Given the description of an element on the screen output the (x, y) to click on. 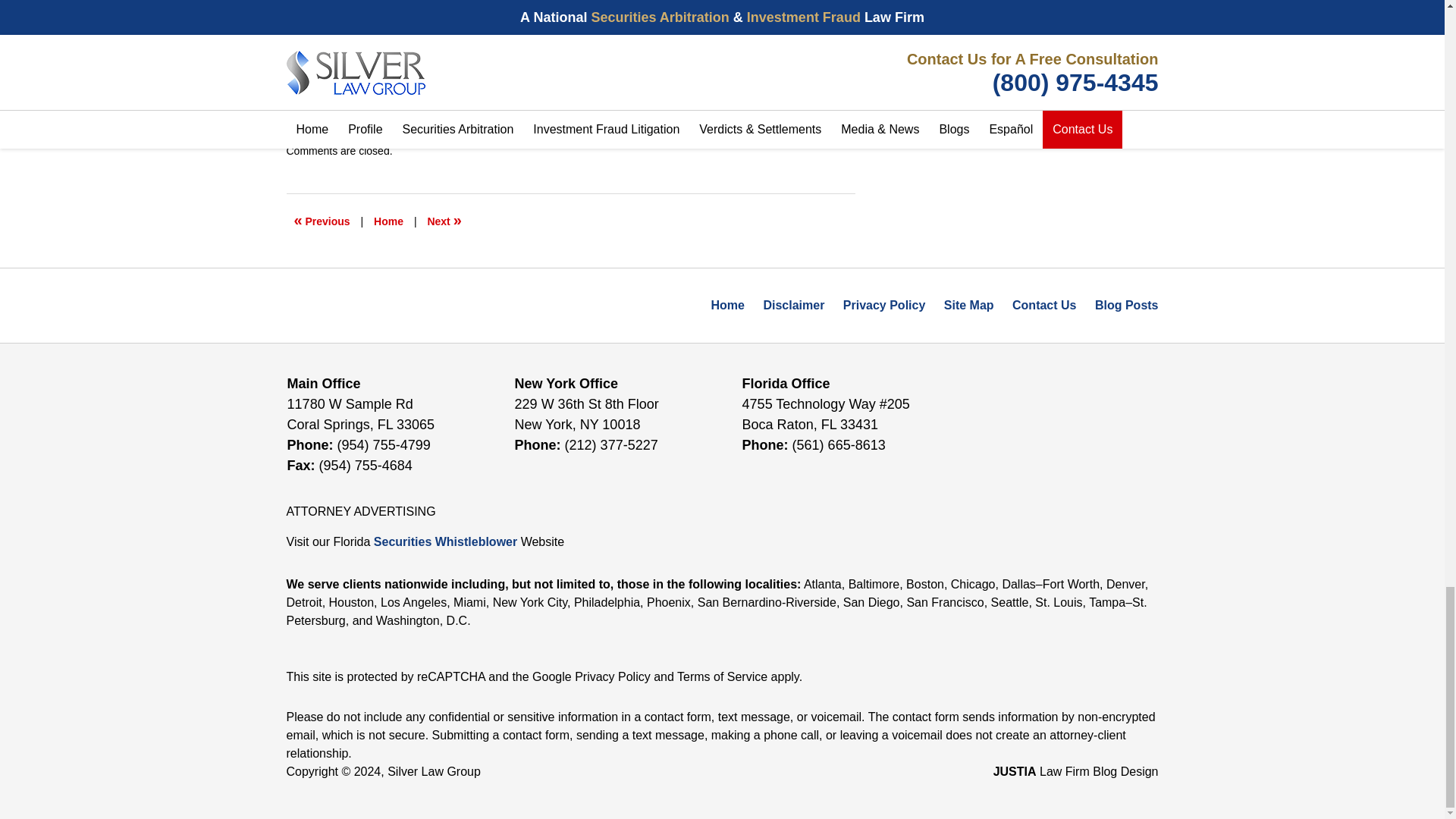
View all posts in Elder Fraud (366, 102)
View all posts tagged with elder financial fraud (377, 119)
View all posts tagged with securities fraud attorney (600, 119)
View all posts tagged with variable annuity (708, 119)
View all posts in Variable Annuities (465, 102)
View all posts tagged with elder fraud attorney (482, 119)
National Securities Corporation Stockbroker Ronald Rothchild (322, 221)
View all posts tagged with variable annuity twisting (570, 126)
